Given the description of an element on the screen output the (x, y) to click on. 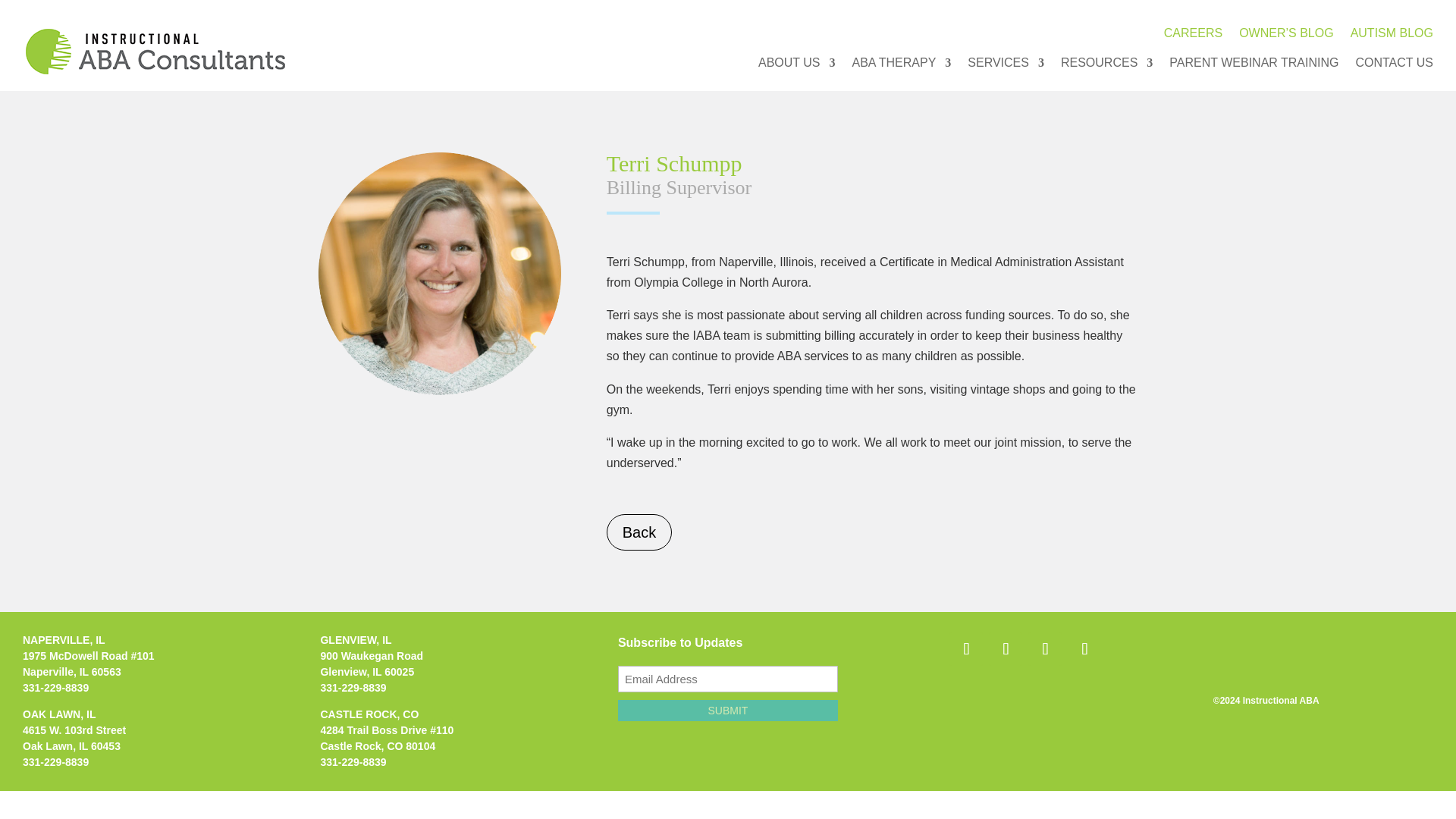
Follow on Youtube (1083, 648)
iabalogo (155, 51)
Follow on Facebook (965, 648)
Terri-McIlrath (439, 273)
Follow on Instagram (1005, 648)
CAREERS (1193, 36)
Follow on X (1044, 648)
AUTISM BLOG (1391, 36)
Submit (727, 710)
